Given the description of an element on the screen output the (x, y) to click on. 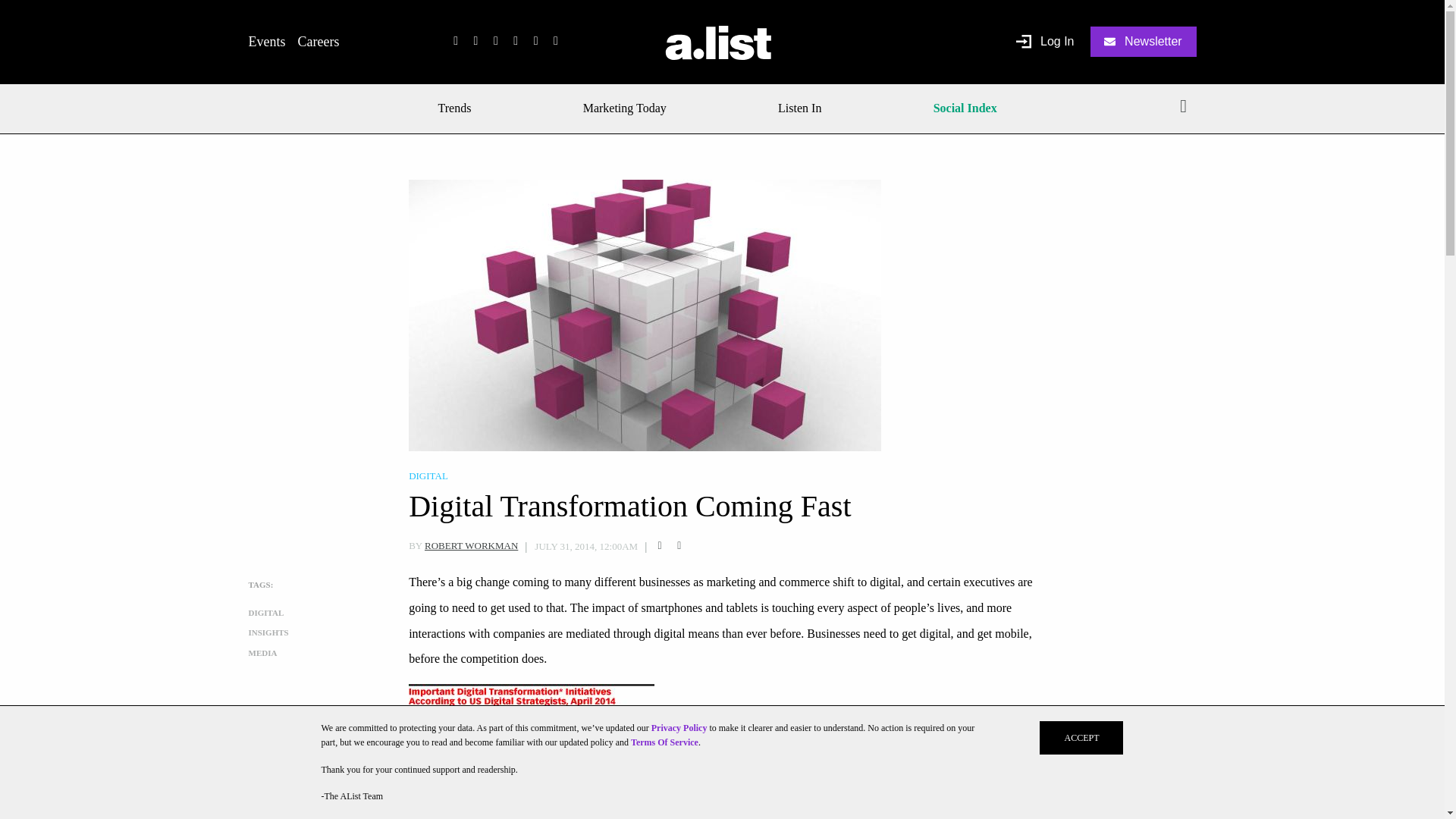
Social Index (965, 108)
Log In (1045, 42)
Marketing Today (625, 108)
Events (266, 41)
Careers (318, 41)
Listen In (799, 108)
Newsletter (1143, 41)
Trends (459, 108)
